Given the description of an element on the screen output the (x, y) to click on. 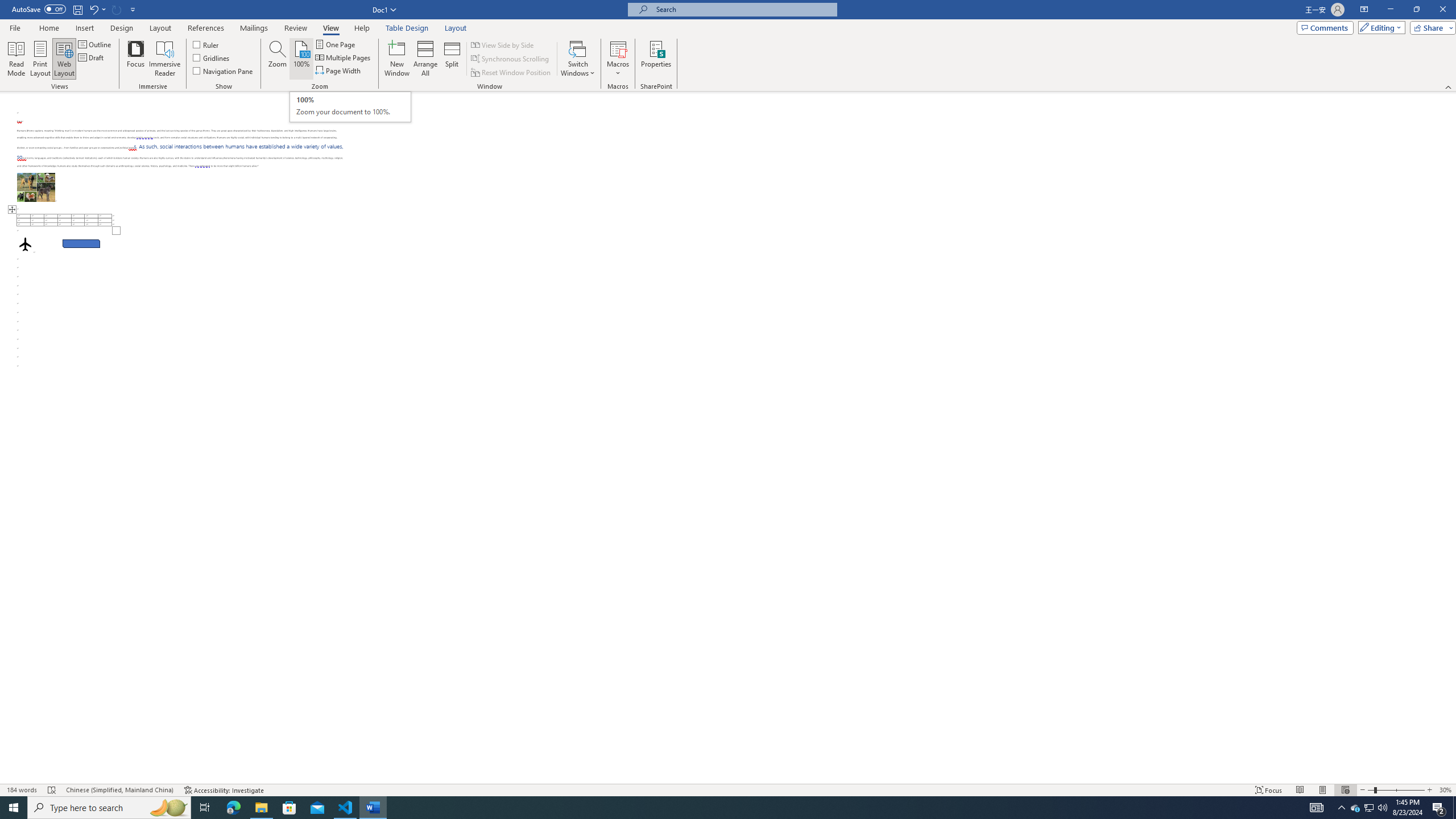
Microsoft search (742, 9)
Properties (655, 58)
100% (301, 58)
Draft (91, 56)
Page Width (338, 69)
Table Design (407, 28)
Undo Row Height Spinner (92, 9)
Word Count 184 words (22, 790)
View Macros (617, 48)
